Given the description of an element on the screen output the (x, y) to click on. 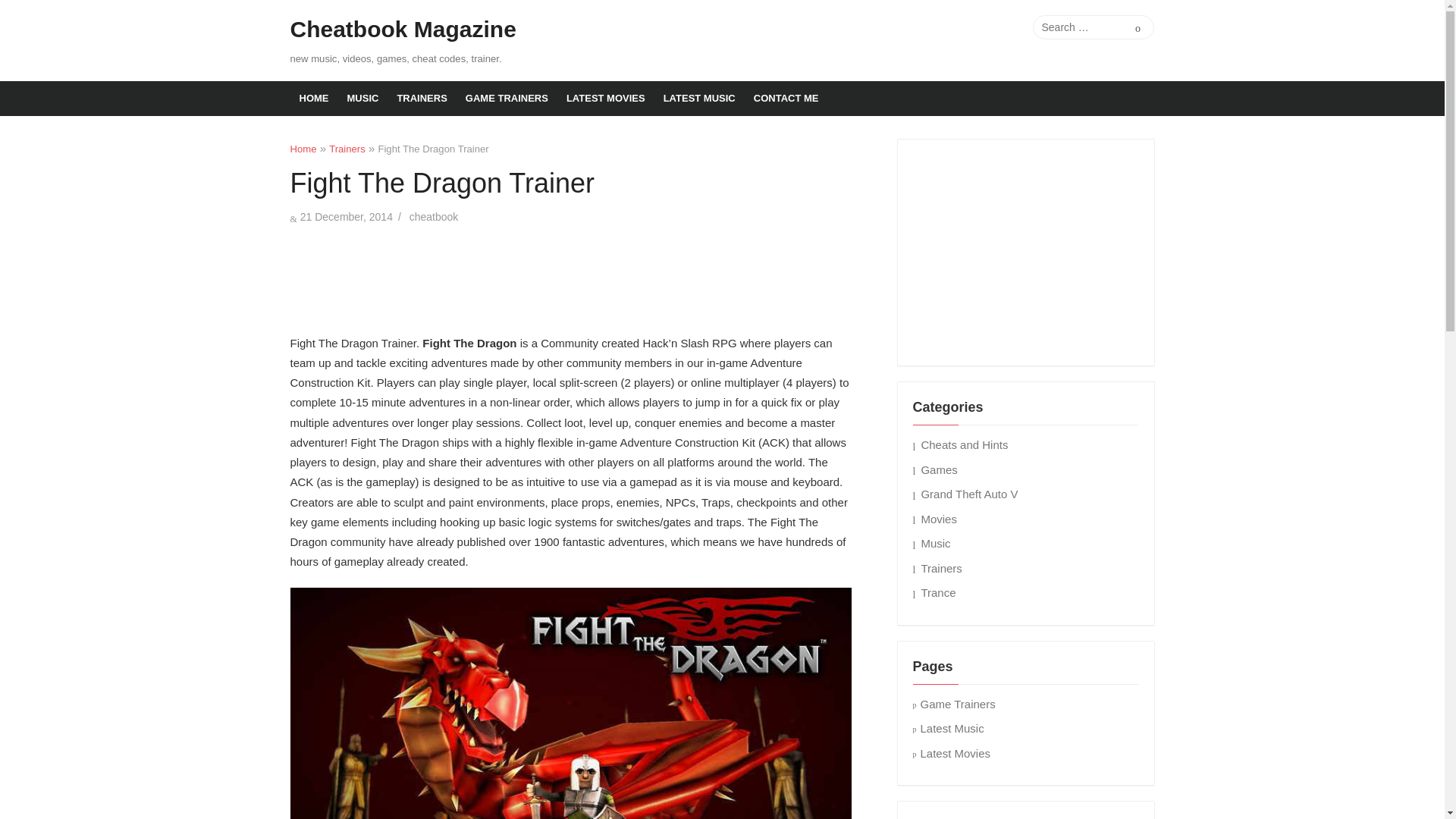
LATEST MUSIC (698, 98)
MUSIC (362, 98)
cheatbook (433, 216)
Trainers (347, 148)
HOME (313, 98)
Search (1137, 27)
GAME TRAINERS (507, 98)
CONTACT ME (786, 98)
TRAINERS (421, 98)
LATEST MOVIES (605, 98)
